Given the description of an element on the screen output the (x, y) to click on. 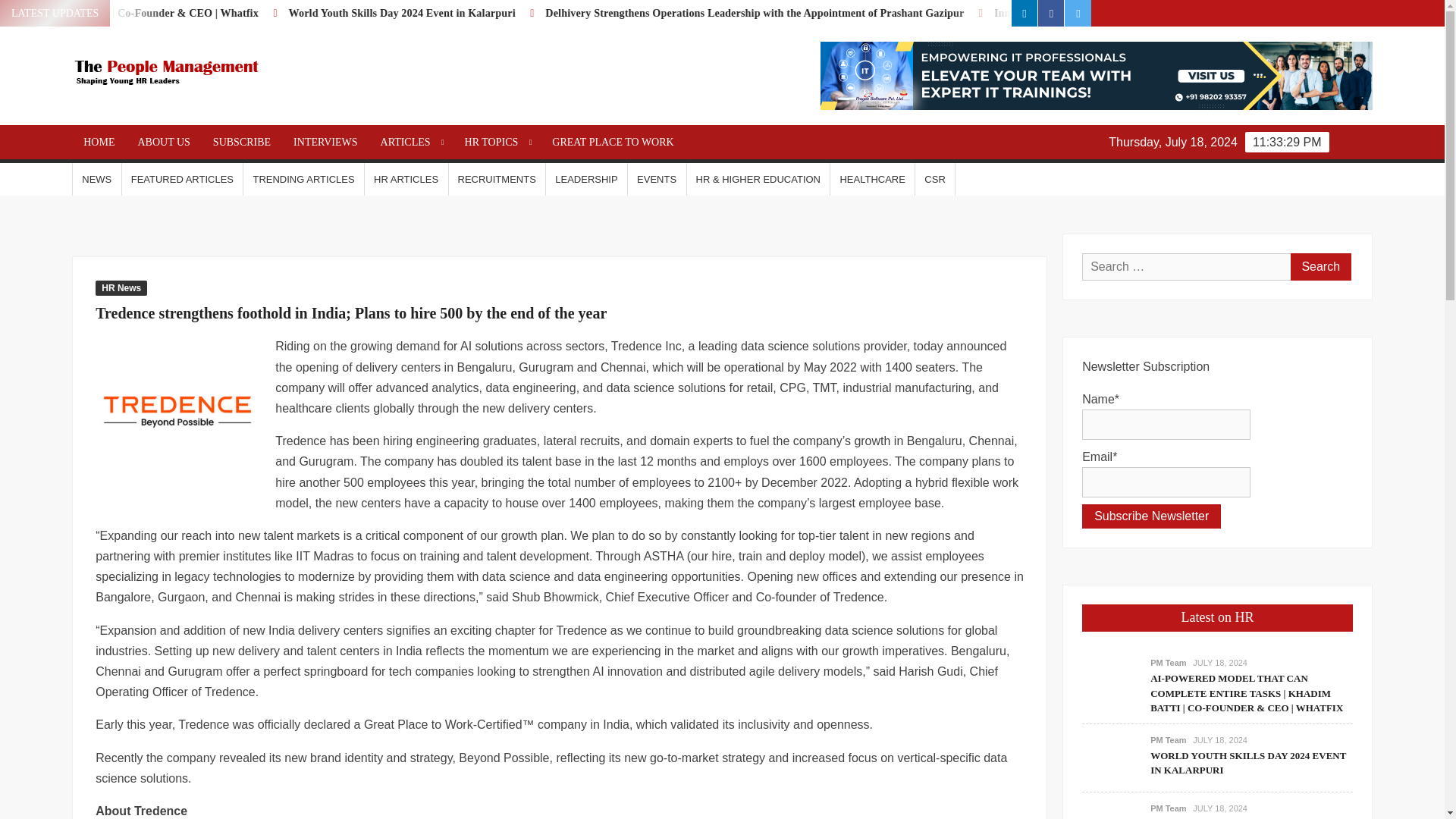
World Youth Skills Day 2024 Event in Kalarpuri (528, 12)
World Youth Skills Day 2024 Event in Kalarpuri (521, 12)
Search (1320, 266)
Search (1320, 266)
Subscribe Newsletter (1151, 516)
